Given the description of an element on the screen output the (x, y) to click on. 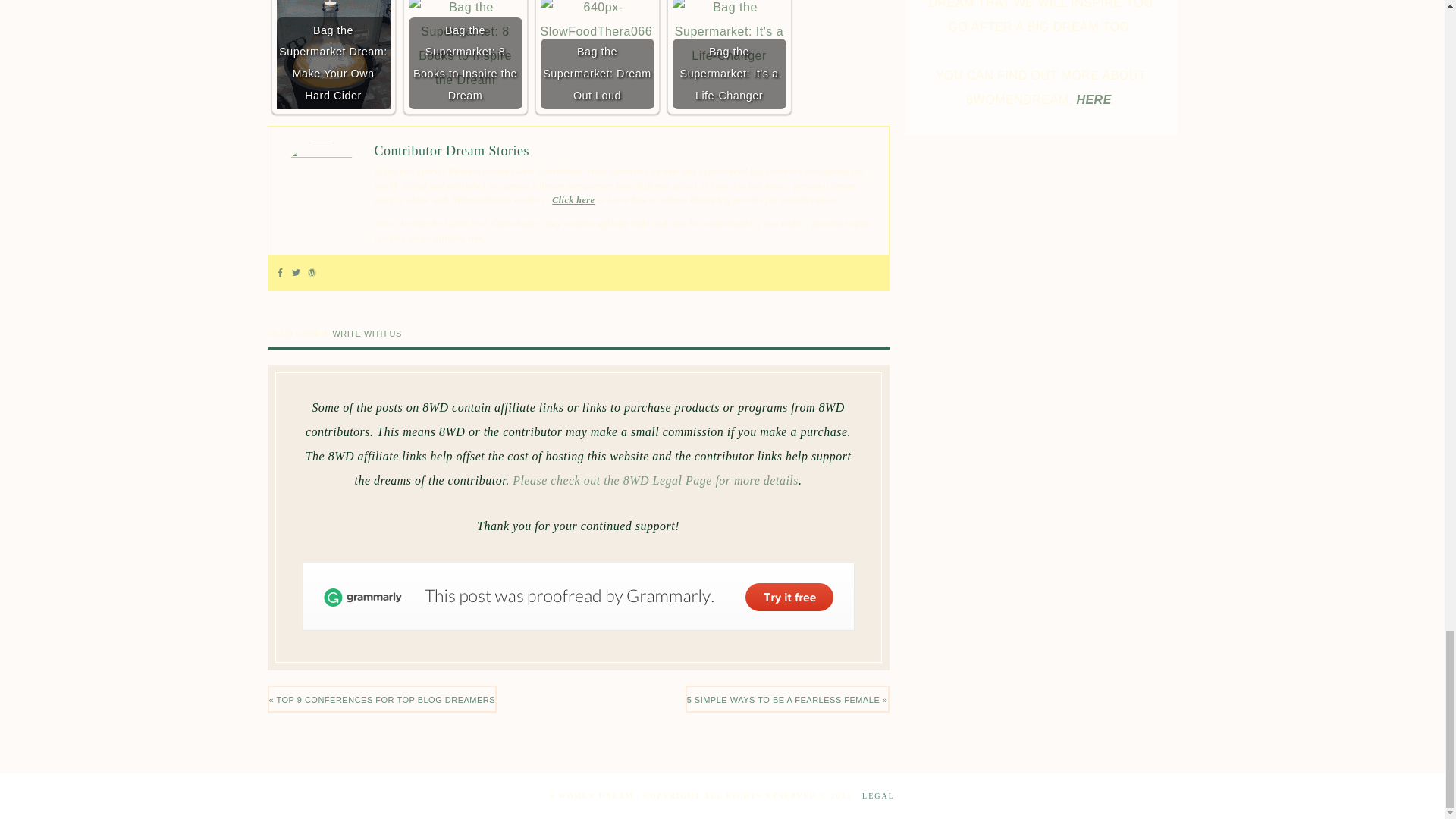
Bag the Supermarket Dream: Make Your Own Hard Cider (333, 54)
Please check out the 8WD Legal Page for more details (654, 480)
Bag the Supermarket: Dream Out Loud (596, 54)
Contributor Dream Stories (451, 150)
Bag the Supermarket: It's a Life-Changer (728, 54)
WRITE WITH US (366, 333)
Click here (572, 199)
Bag the Supermarket Dream: Make Your Own Hard Cider (333, 54)
Bag the Supermarket: 8 Books to Inspire the Dream (464, 54)
Bag the Supermarket: Dream Out Loud (596, 22)
